Given the description of an element on the screen output the (x, y) to click on. 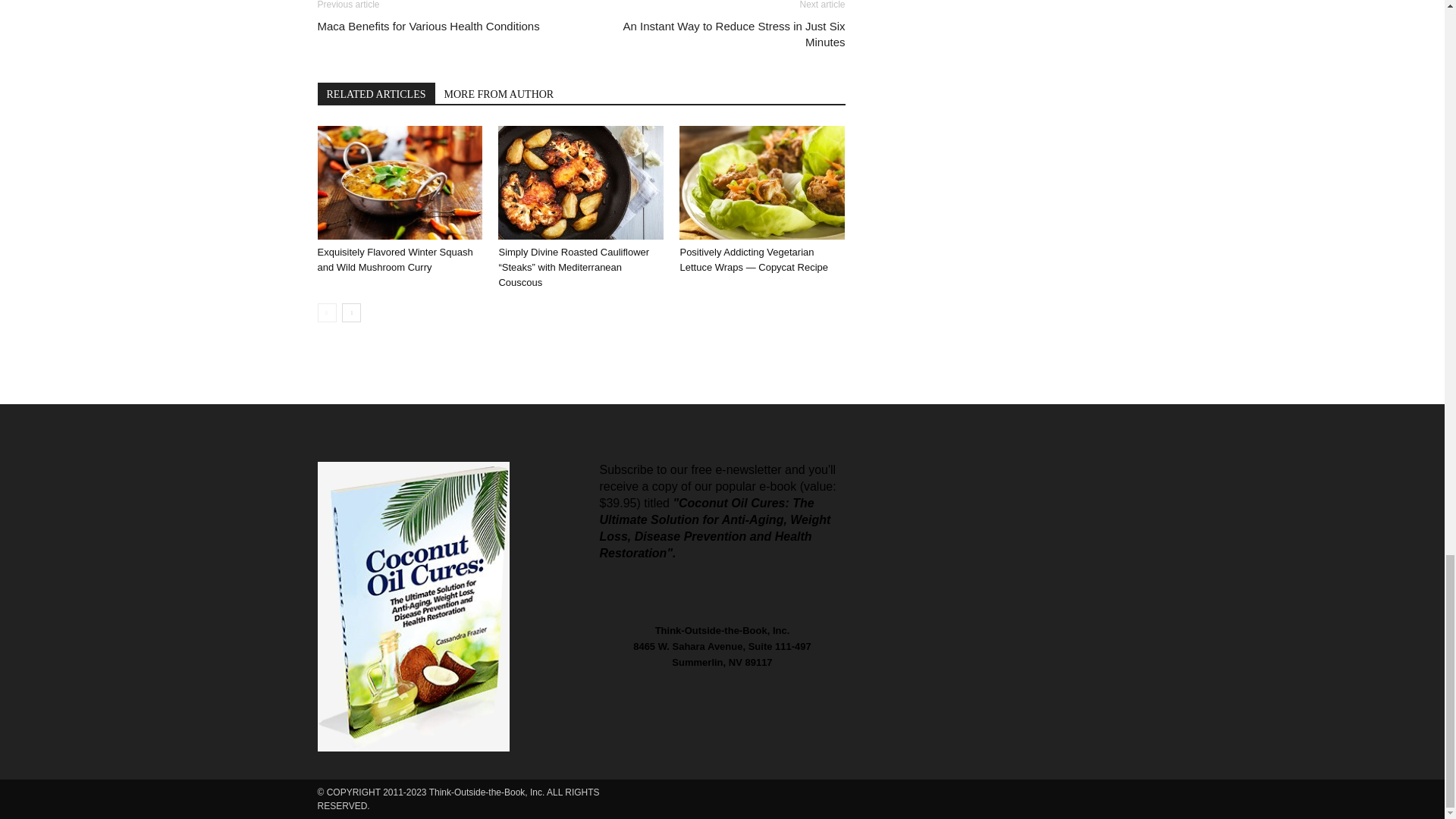
Exquisitely Flavored Winter Squash and Wild Mushroom Curry (399, 182)
Exquisitely Flavored Winter Squash and Wild Mushroom Curry (394, 259)
